Given the description of an element on the screen output the (x, y) to click on. 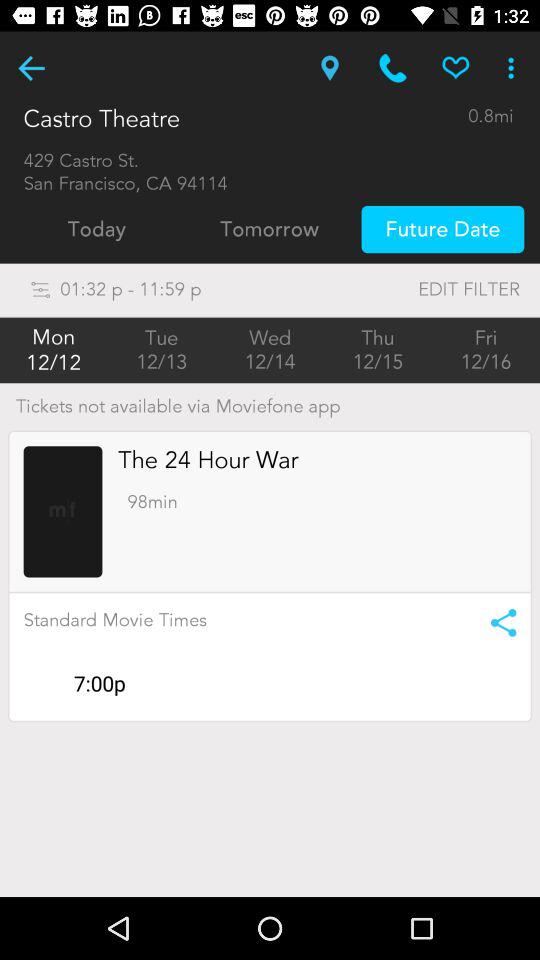
launch edit filter (428, 289)
